Given the description of an element on the screen output the (x, y) to click on. 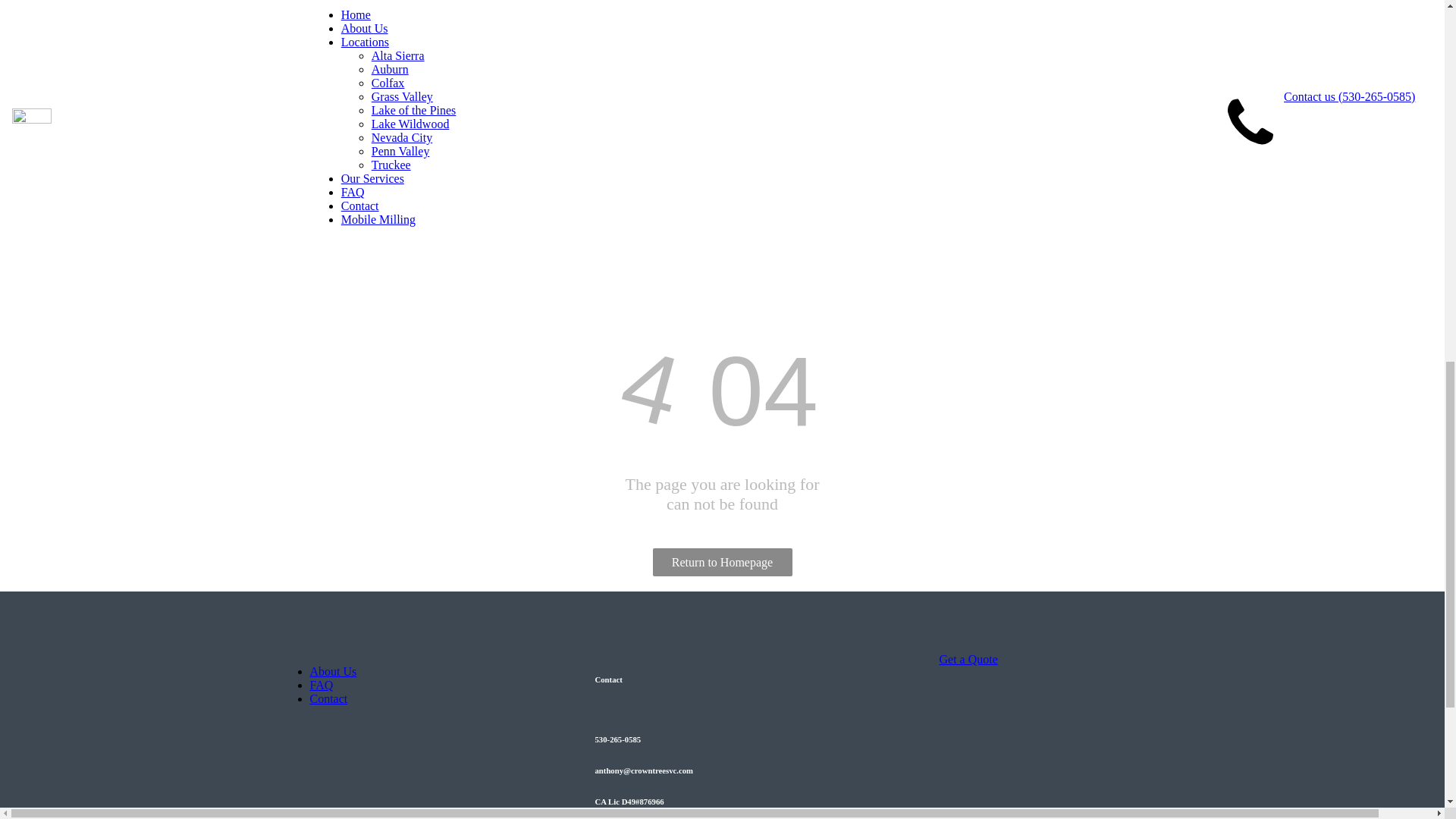
FAQ (320, 684)
Contact (327, 698)
Return to Homepage (722, 561)
About Us (332, 671)
Get a Quote (308, 64)
